Given the description of an element on the screen output the (x, y) to click on. 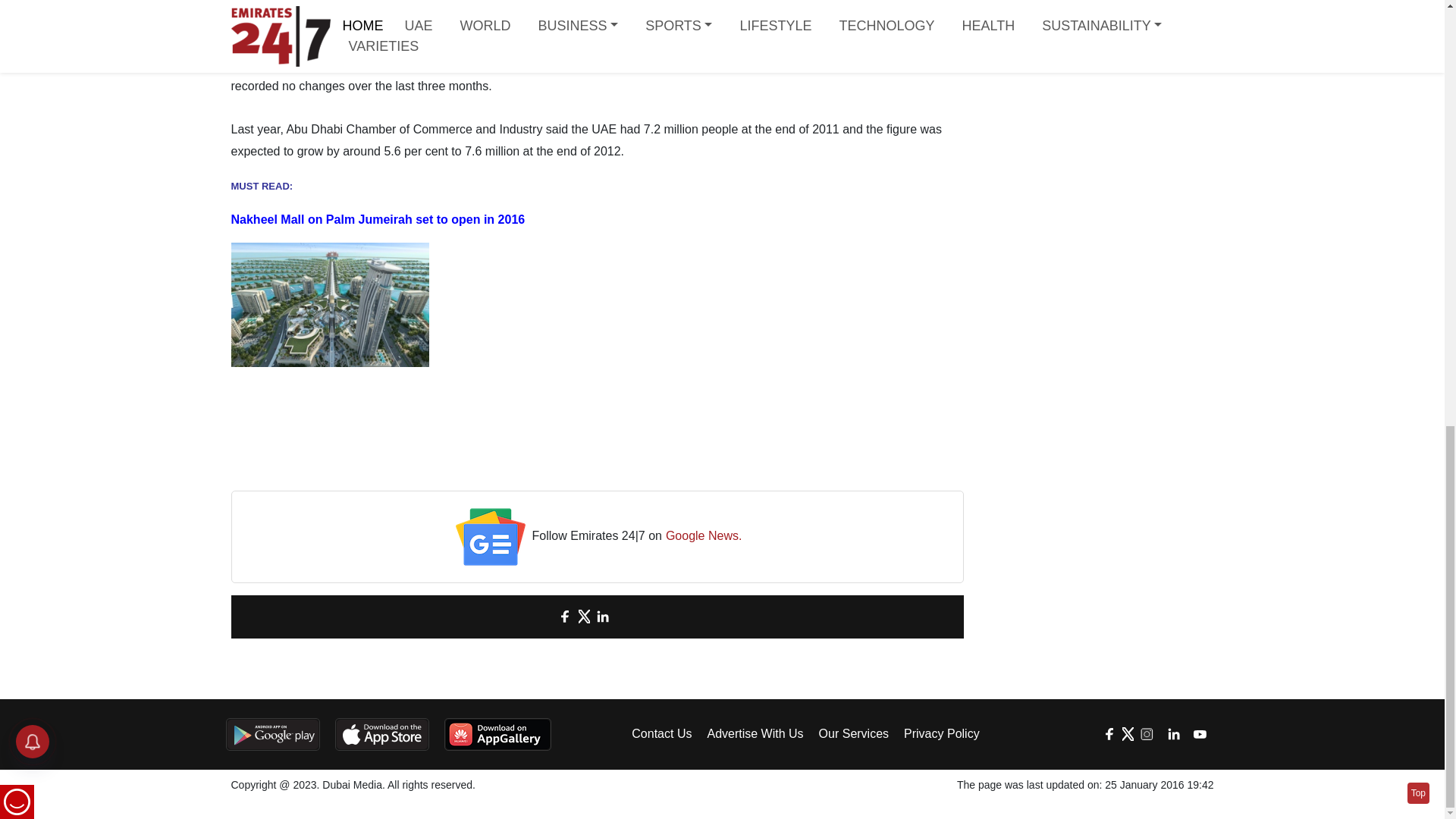
Nakheel Mall on Palm Jumeirah set to open in 2016 (377, 219)
